Given the description of an element on the screen output the (x, y) to click on. 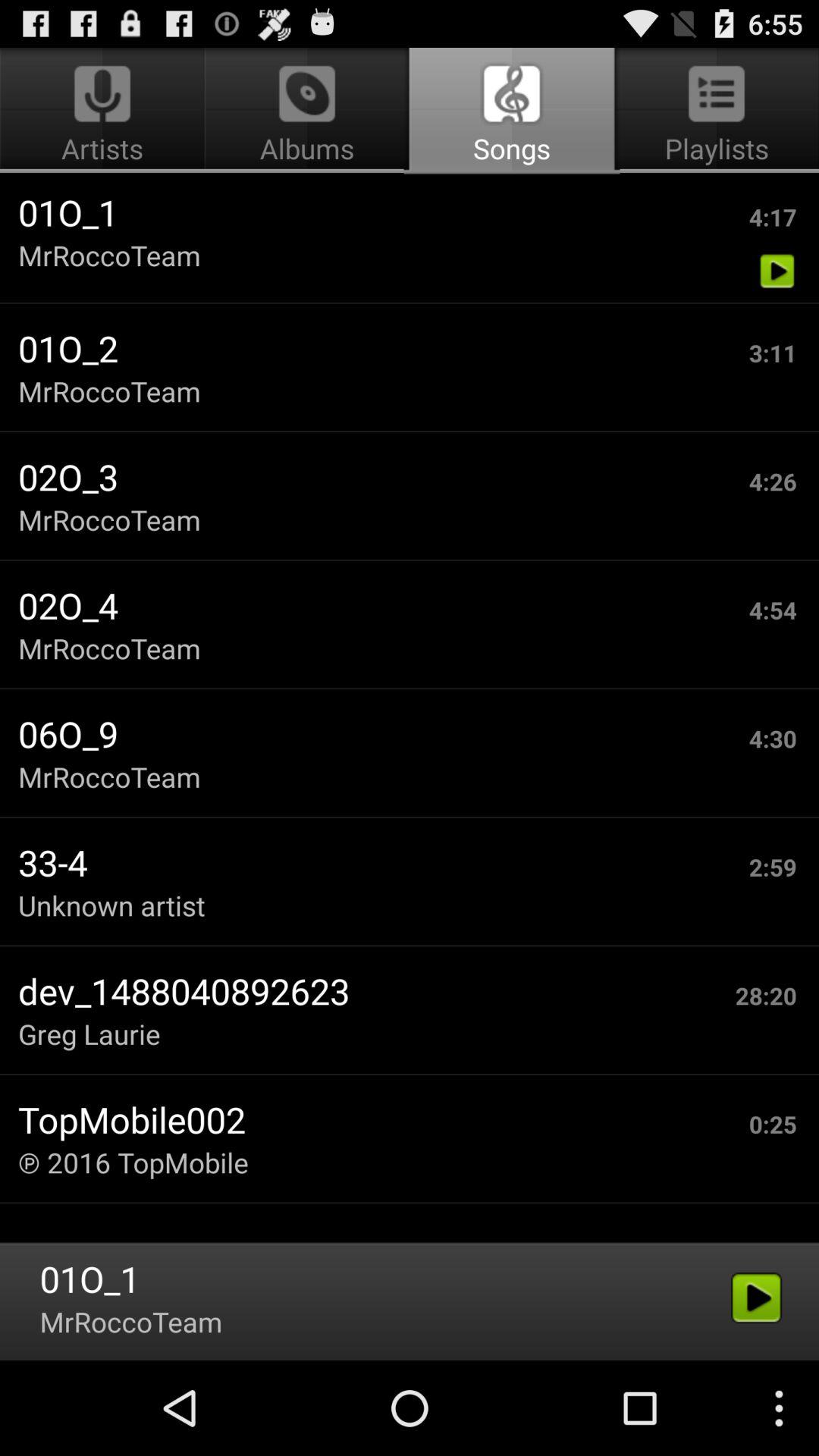
swipe until the playlists icon (713, 111)
